Given the description of an element on the screen output the (x, y) to click on. 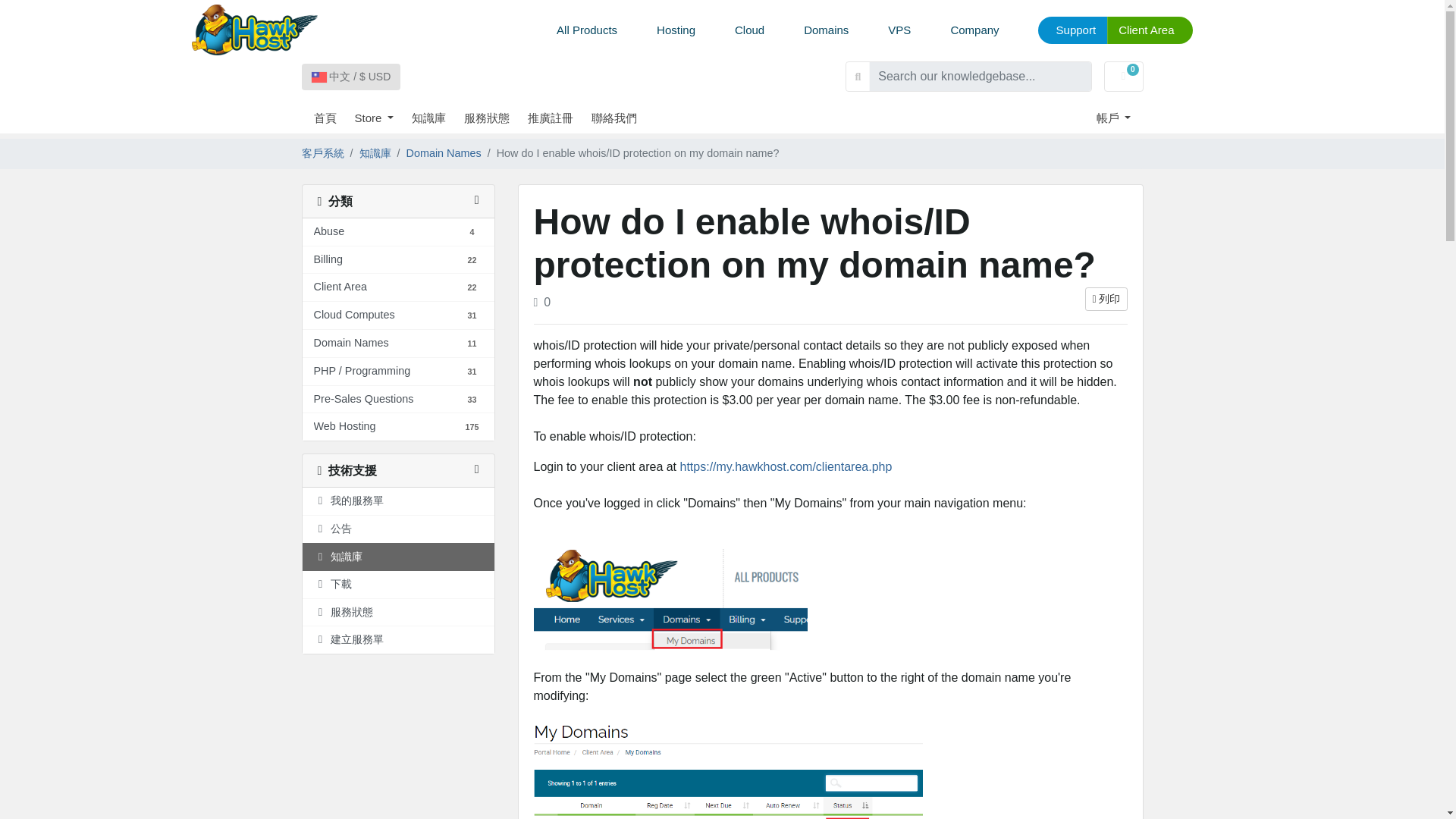
Cloud Computes (354, 315)
Cloud (749, 30)
All Products (586, 30)
Web Hosting (344, 426)
Domain Names (351, 343)
Billing (328, 259)
Pre-Sales Questions (363, 399)
Support (1073, 30)
VPS (899, 30)
Domains (825, 30)
